Given the description of an element on the screen output the (x, y) to click on. 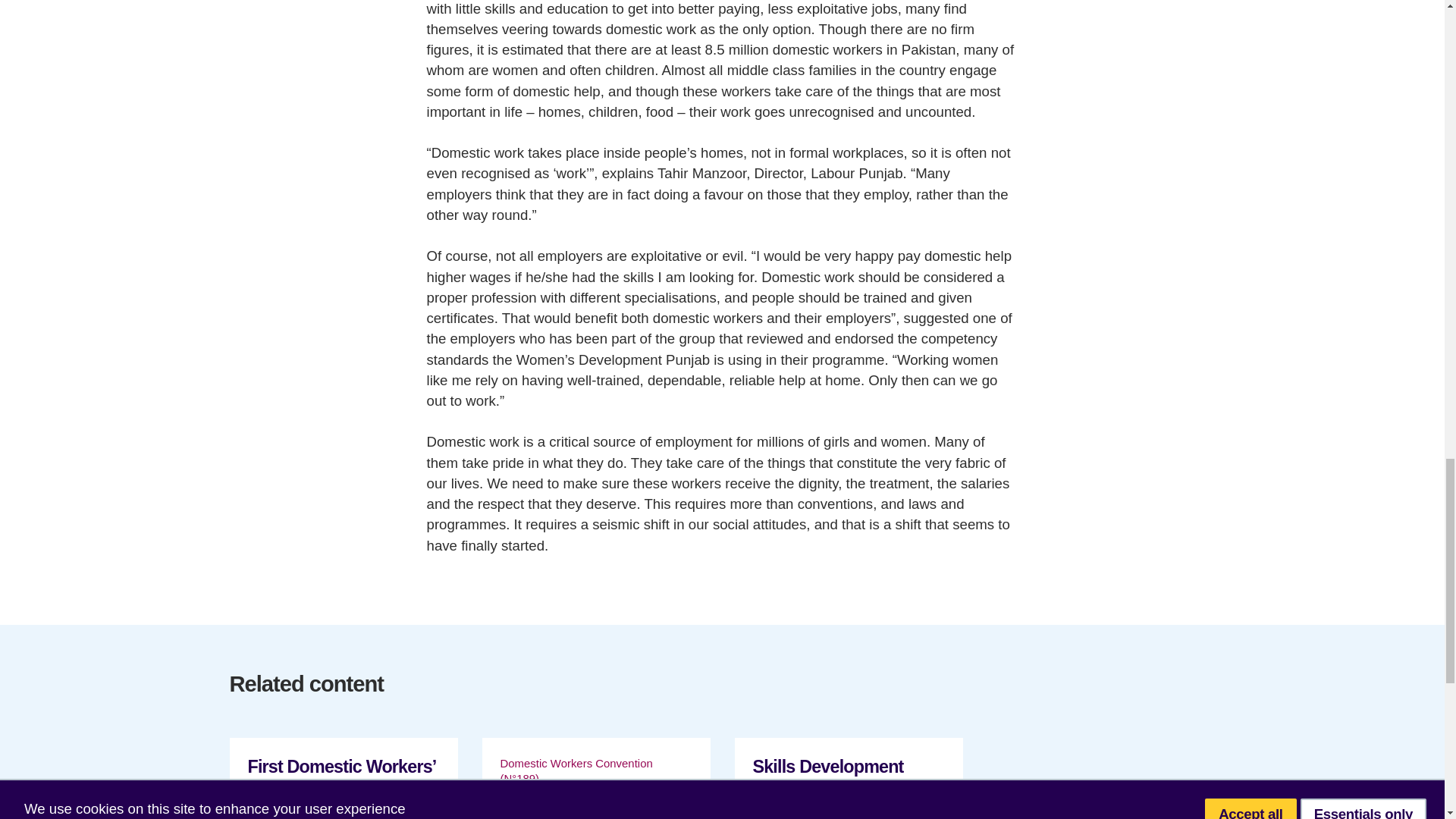
Domestic workers' rights: Let's keep the momentum (595, 778)
Domestic workers' rights: Let's keep the momentum (595, 778)
